Given the description of an element on the screen output the (x, y) to click on. 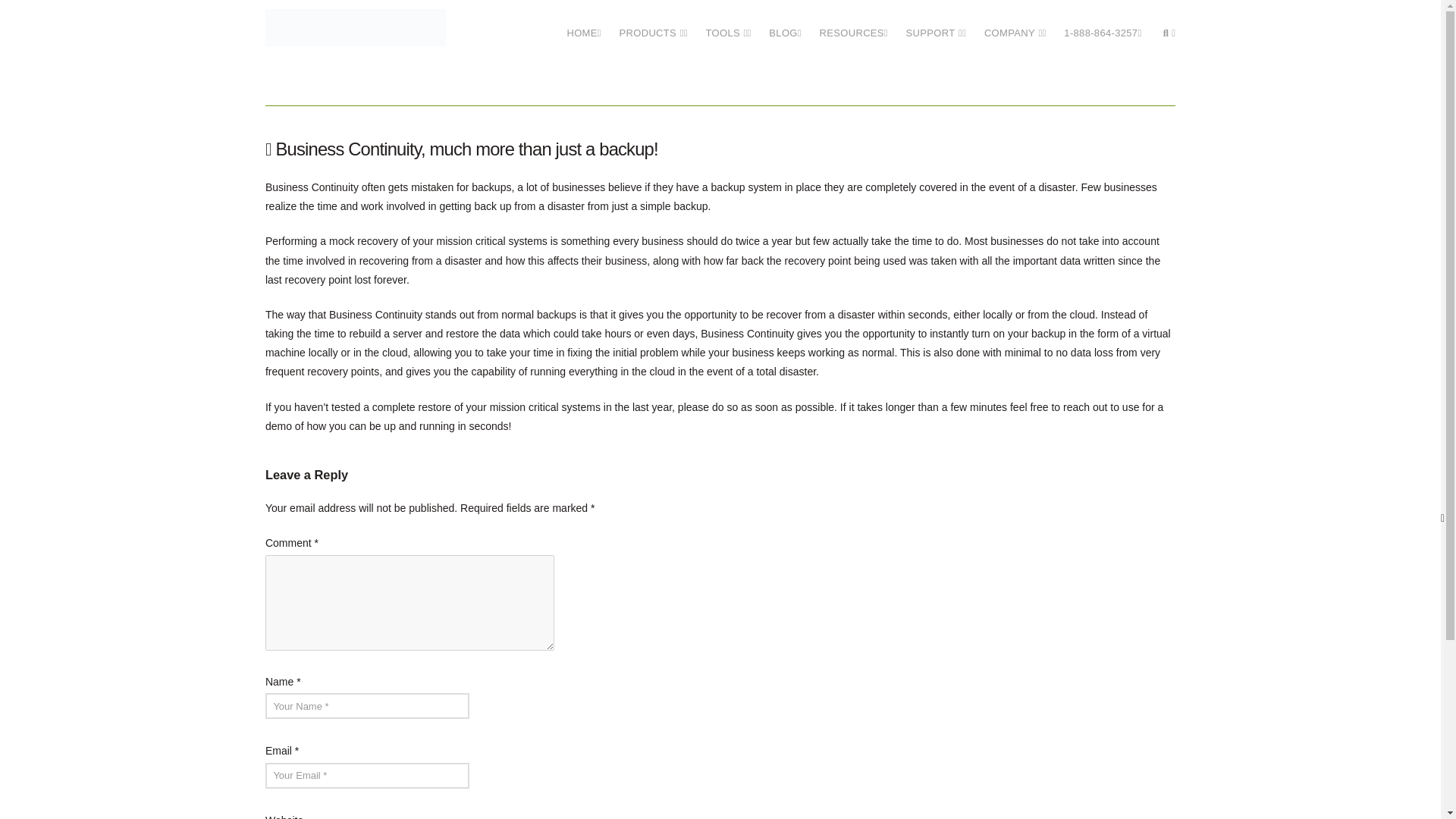
HOME (583, 26)
SUPPORT (935, 26)
COMPANY (1014, 26)
BLOG (784, 26)
PRODUCTS (653, 26)
1-888-864-3257 (1102, 26)
RESOURCES (853, 26)
TOOLS (727, 26)
